Given the description of an element on the screen output the (x, y) to click on. 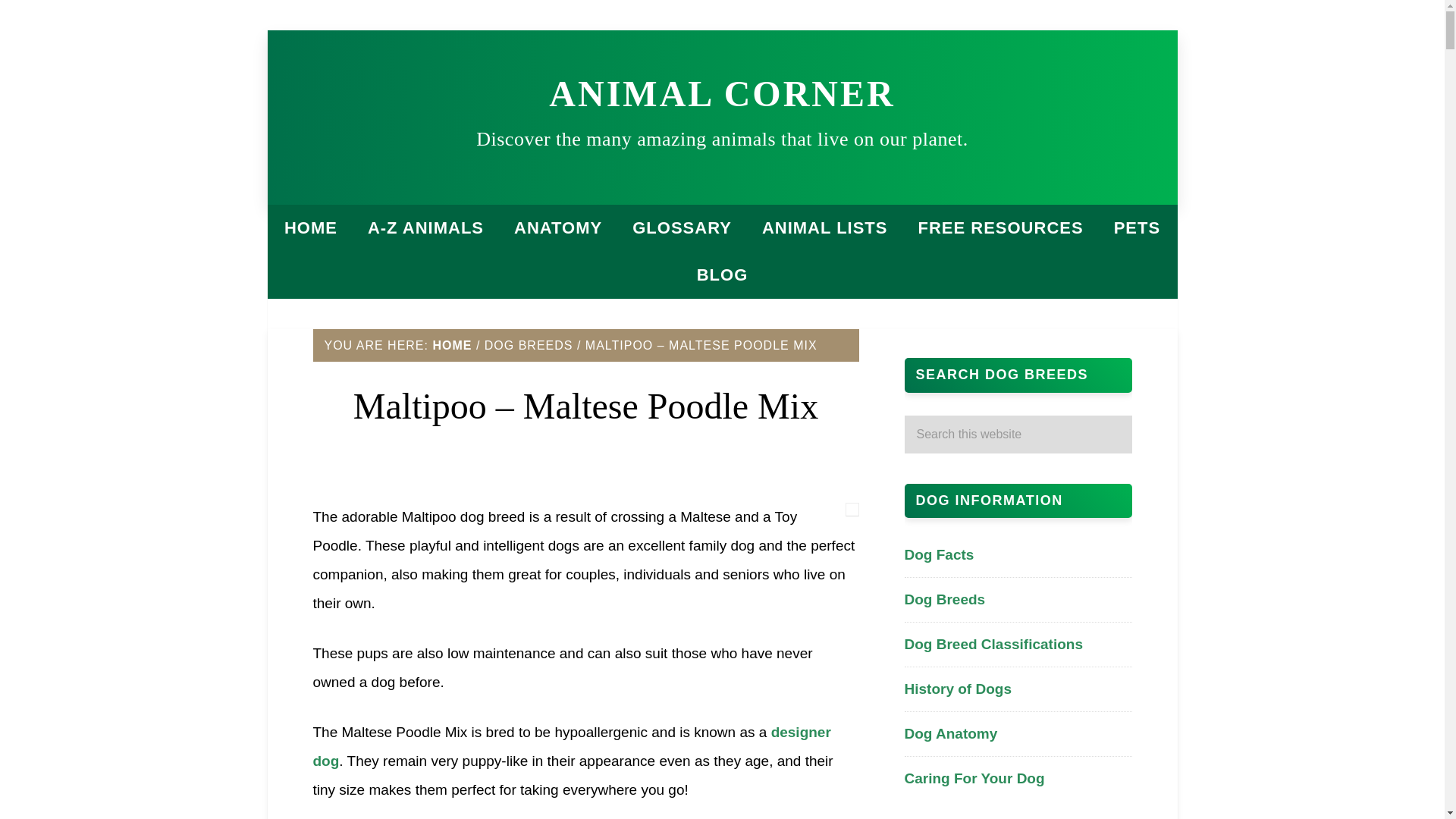
Dog Breed Classifications (992, 643)
GLOSSARY (681, 227)
PETS (1136, 227)
designer dog (571, 746)
History of Dogs (957, 688)
HOME (451, 345)
FREE RESOURCES (999, 227)
designer dog (571, 746)
Dog Breeds (944, 599)
ANATOMY (558, 227)
Dog Facts (939, 554)
BLOG (721, 274)
Caring For Your Dog (973, 778)
